Given the description of an element on the screen output the (x, y) to click on. 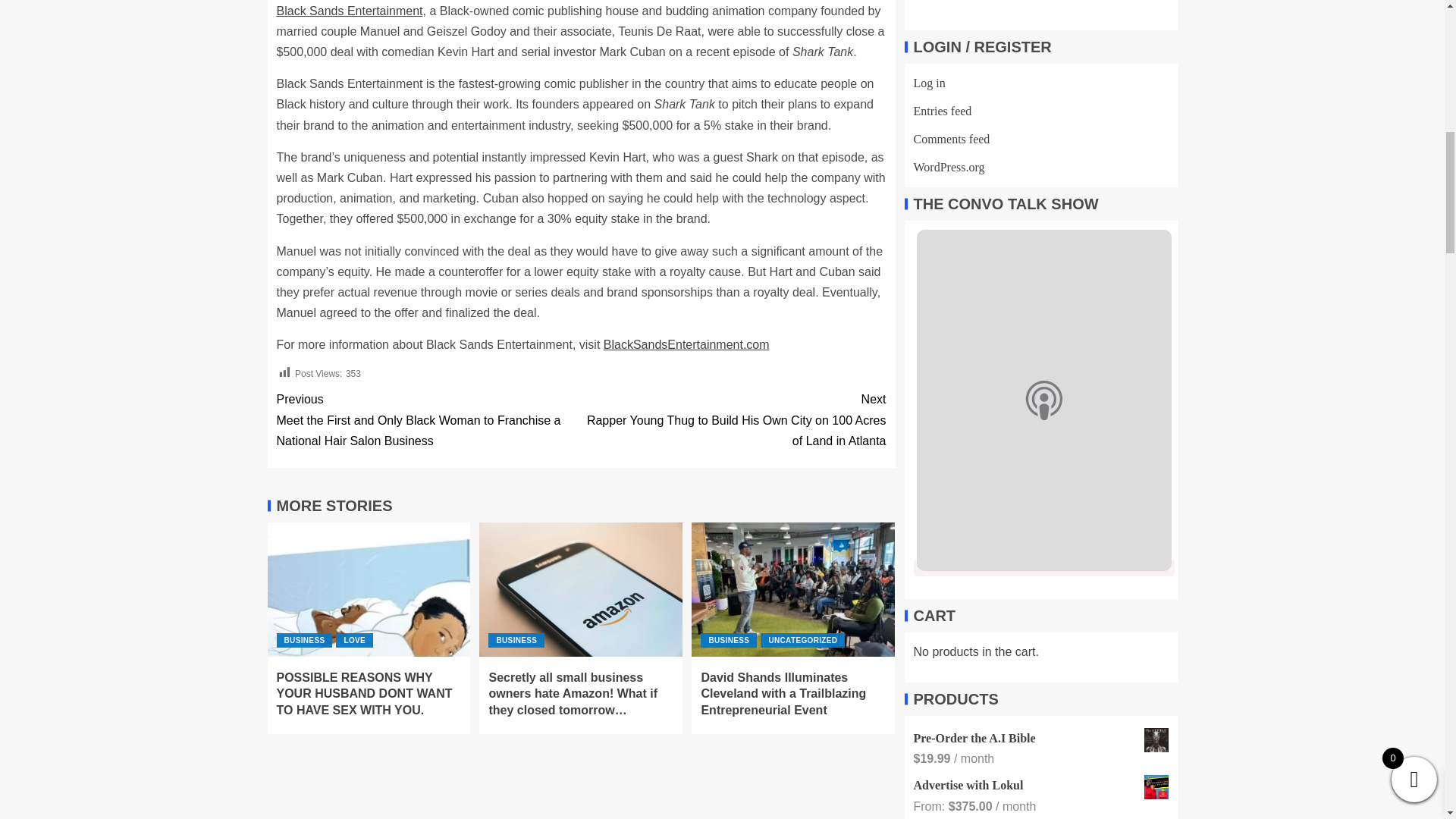
LOVE (354, 640)
Black Sands Entertainment (349, 10)
BUSINESS (515, 640)
BlackSandsEntertainment.com (687, 344)
BUSINESS (303, 640)
